Given the description of an element on the screen output the (x, y) to click on. 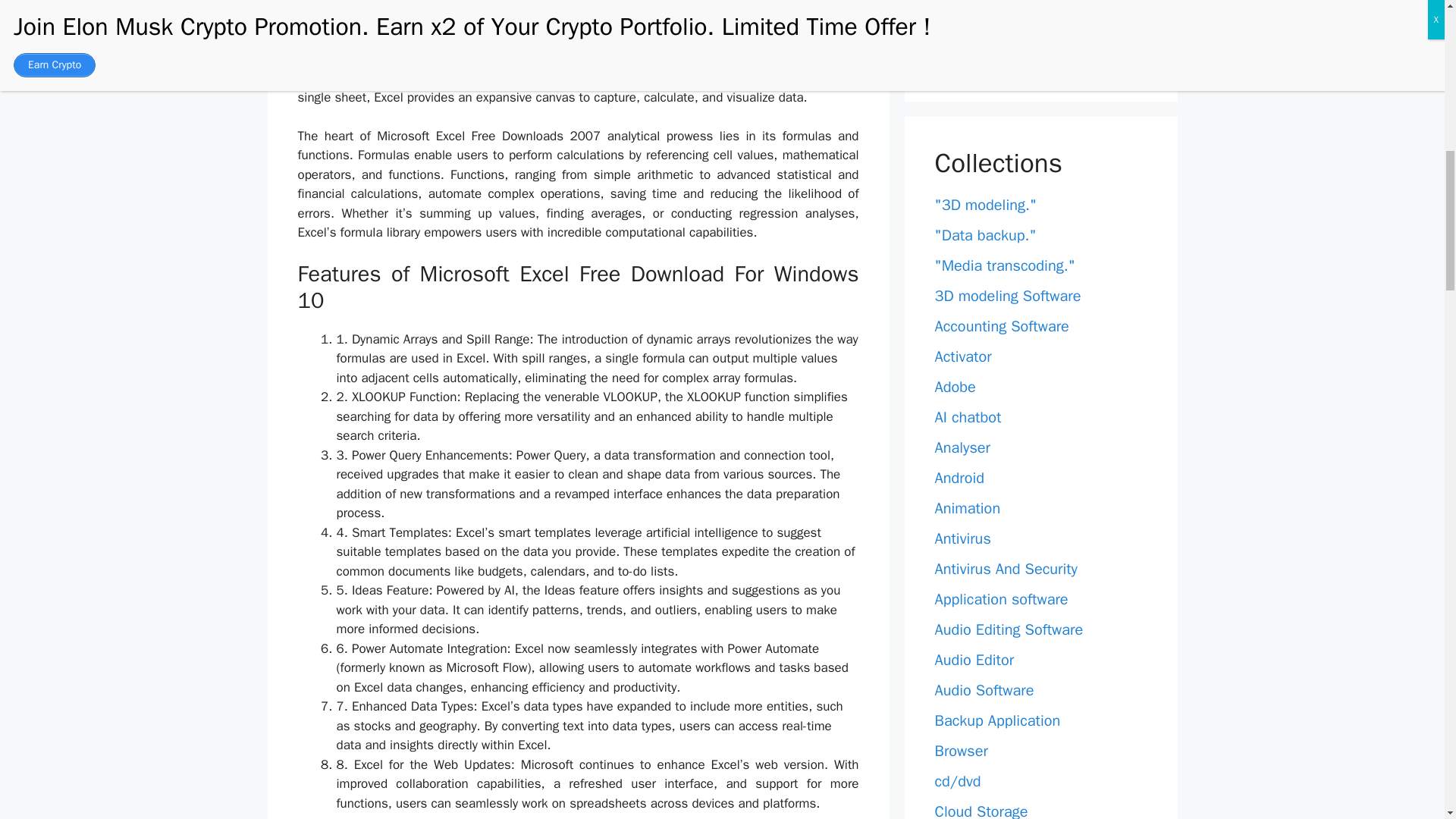
Microsoft Excel (415, 38)
"3D modeling." (985, 204)
